Given the description of an element on the screen output the (x, y) to click on. 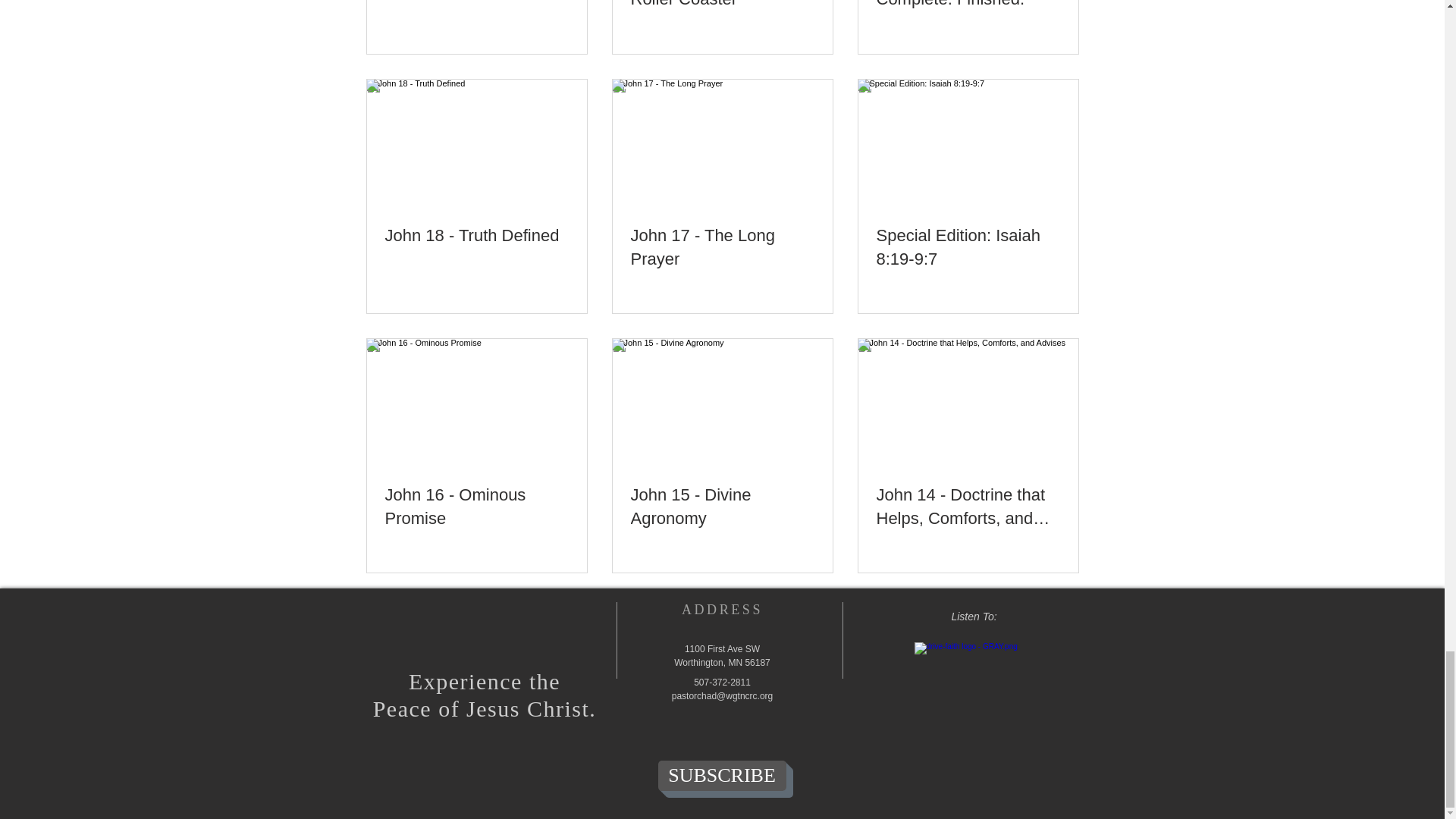
John 19 - Final. Complete. Finished. (967, 6)
John 20 - Resurrection Roller Coaster (721, 6)
